Given the description of an element on the screen output the (x, y) to click on. 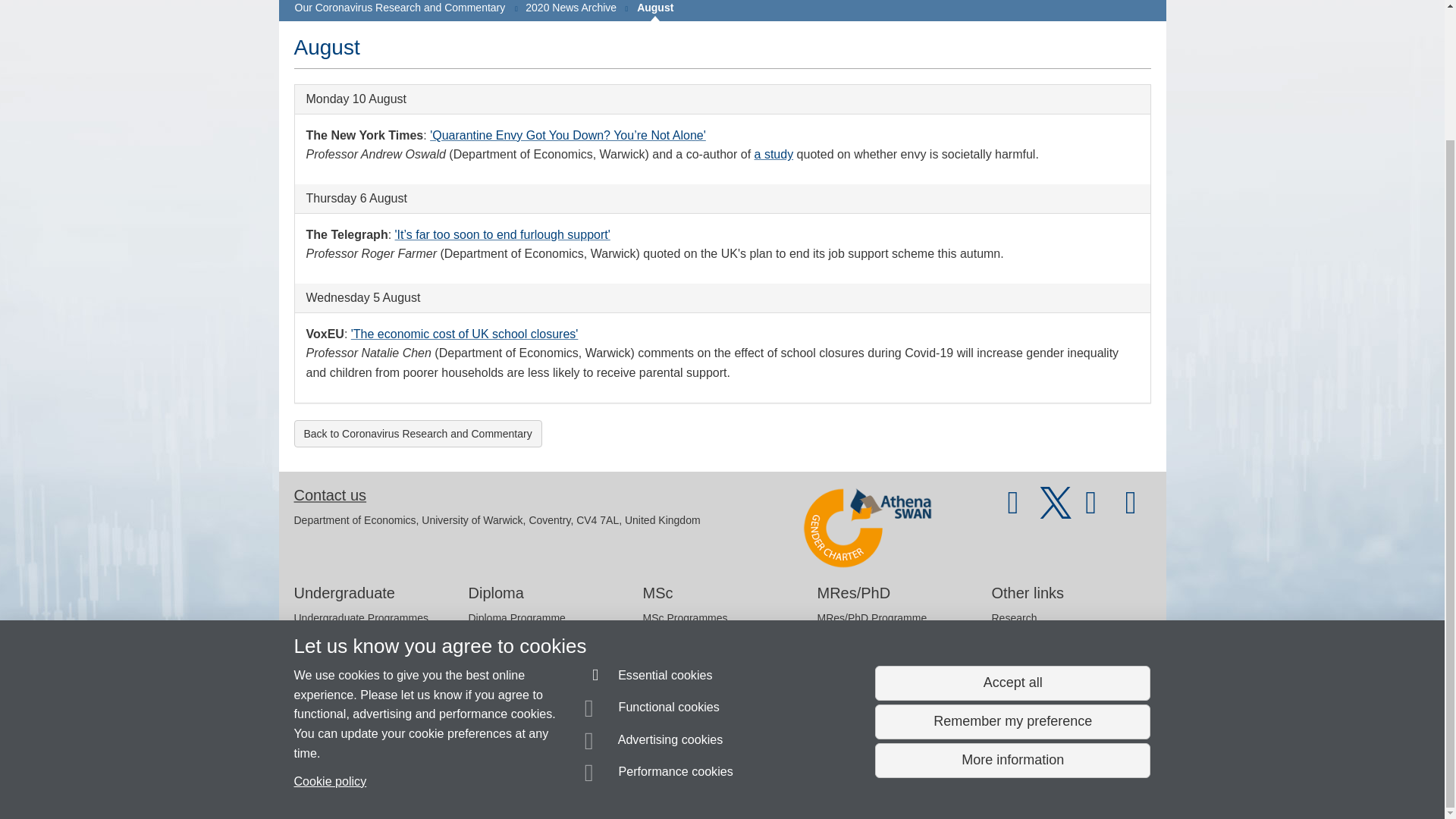
Warwick Economics on YouTube (1012, 509)
Warwick Economics on Twitter (1055, 509)
Warwick Economics on Instagram (1130, 509)
Essential cookies are always on (649, 518)
Send an email to Nivaria Morales Salas (395, 751)
Copyright Statement (514, 780)
Warwick Economics on Facebook (1094, 509)
Accept all functional, advertising and performance cookies (1012, 524)
Information about cookies (467, 780)
Terms of use (708, 780)
More information about SiteBuilder (365, 780)
